Given the description of an element on the screen output the (x, y) to click on. 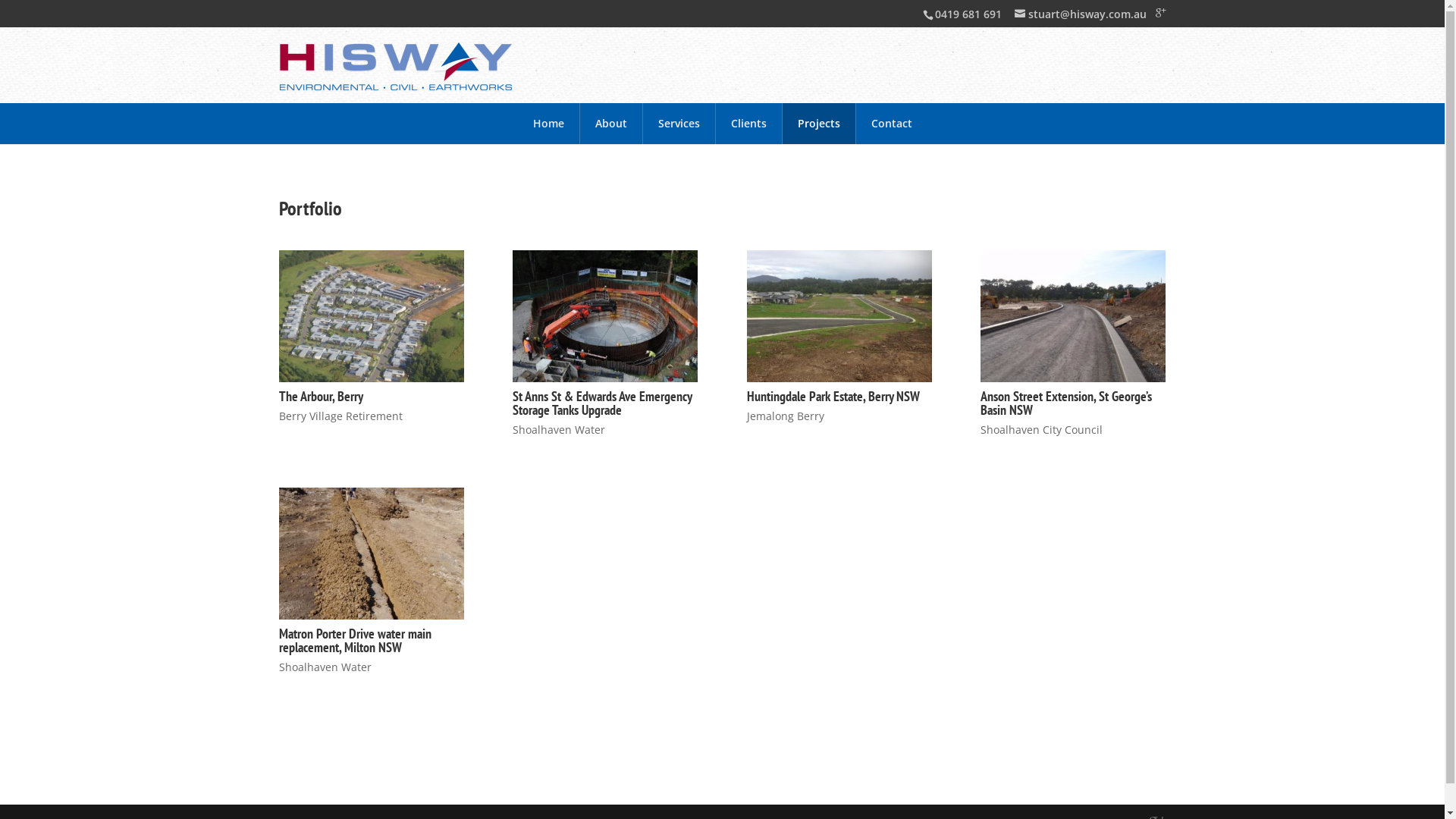
About Element type: text (610, 123)
Projects Element type: text (818, 123)
Shoalhaven City Council Element type: text (1041, 429)
Contact Element type: text (890, 123)
Berry Village Retirement Element type: text (340, 415)
Clients Element type: text (748, 123)
Jemalong Berry Element type: text (785, 415)
Home Element type: text (547, 123)
0419 681 691 Element type: text (966, 13)
Huntingdale Park Estate, Berry NSW Element type: text (832, 395)
St Anns St & Edwards Ave Emergency Storage Tanks Upgrade Element type: text (601, 402)
Shoalhaven Water Element type: text (325, 666)
Shoalhaven Water Element type: text (558, 429)
Services Element type: text (679, 123)
Matron Porter Drive water main replacement, Milton NSW Element type: text (355, 639)
stuart@hisway.com.au Element type: text (1080, 13)
The Arbour, Berry Element type: text (321, 395)
